Given the description of an element on the screen output the (x, y) to click on. 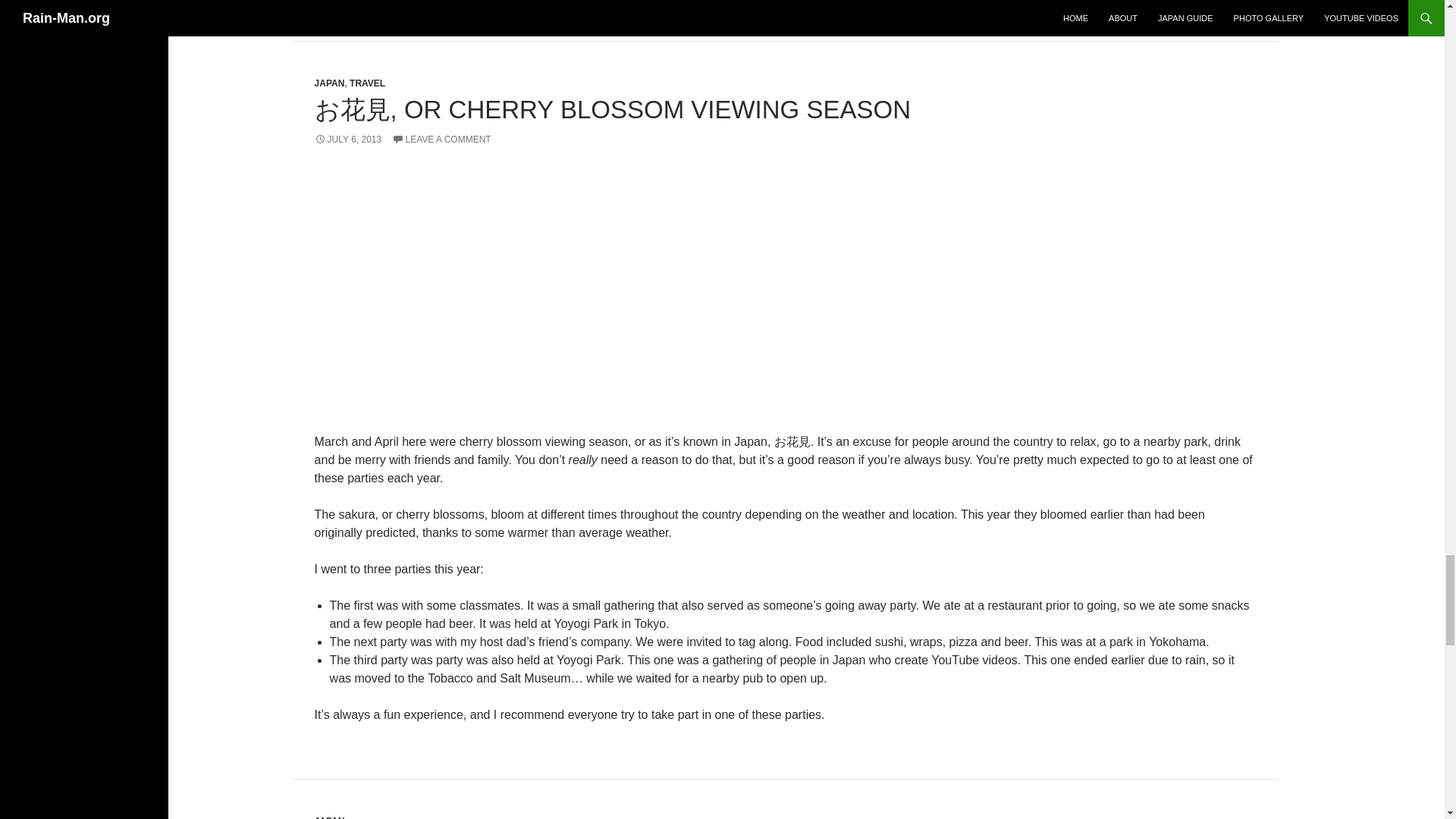
TRAVEL (367, 82)
JULY 6, 2013 (347, 139)
JAPAN (329, 82)
JAPAN (329, 817)
LEAVE A COMMENT (441, 139)
